Given the description of an element on the screen output the (x, y) to click on. 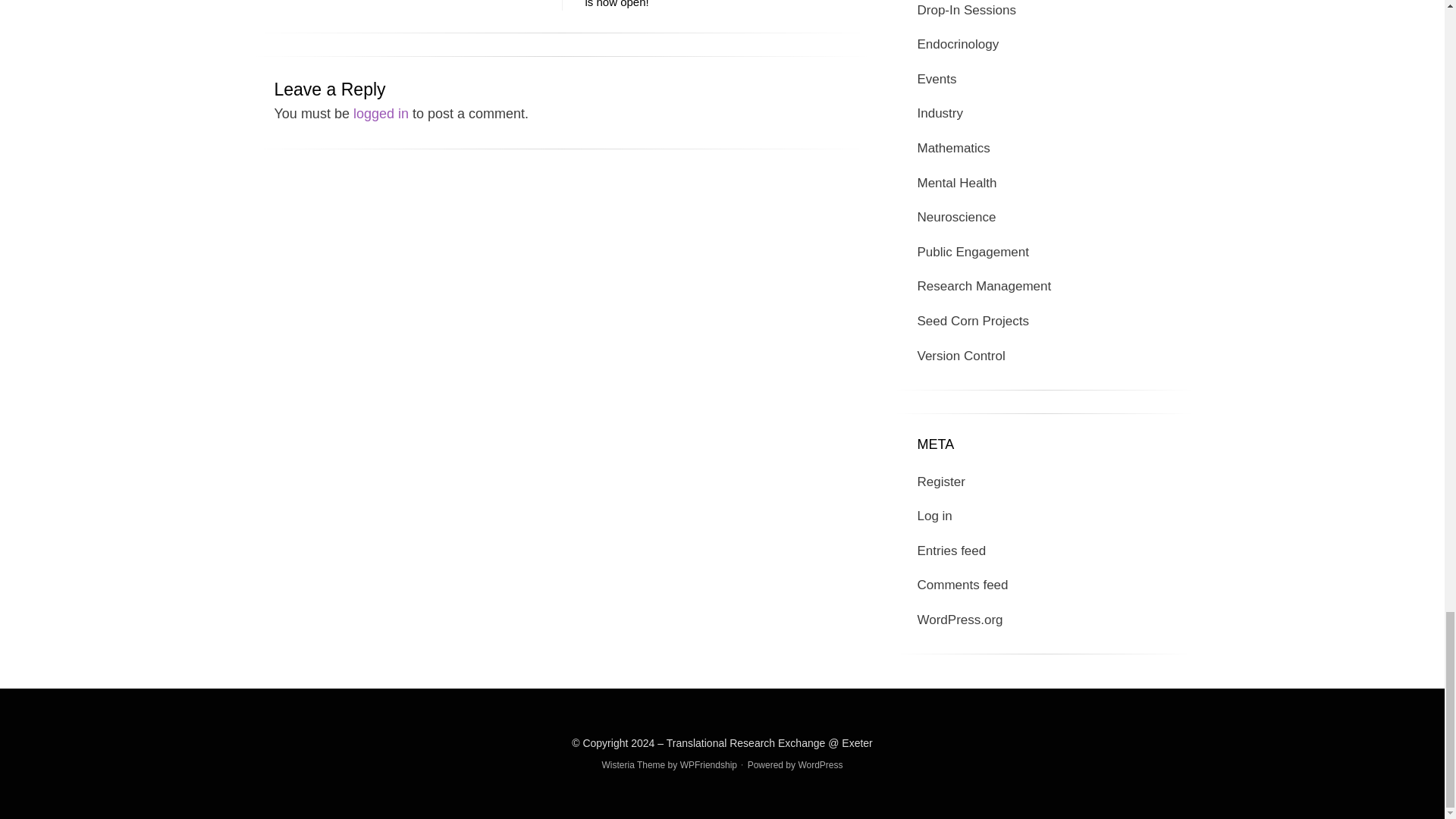
logged in (381, 113)
WordPress (820, 765)
WPFriendship (707, 765)
